Given the description of an element on the screen output the (x, y) to click on. 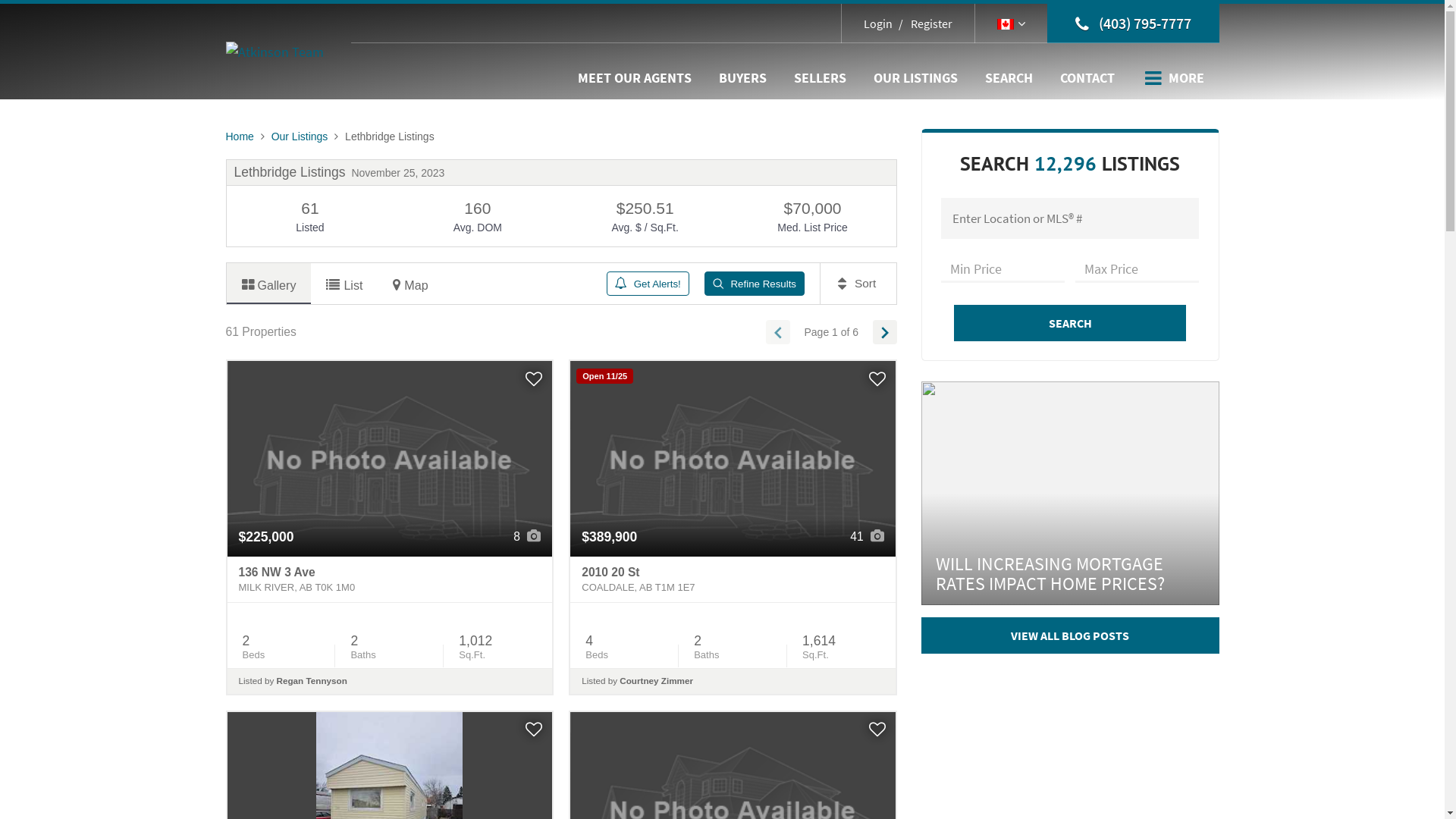
Login Element type: text (877, 23)
Home Page Element type: hover (274, 50)
VIEW ALL BLOG POSTS Element type: text (1069, 635)
(403) 795-7777 Element type: text (1132, 23)
$225,000
8 Element type: text (389, 457)
MEET OUR AGENTS Element type: text (634, 77)
Our Listings Element type: text (299, 136)
Home Element type: text (239, 136)
WILL INCREASING MORTGAGE RATES IMPACT HOME PRICES? Element type: text (1069, 493)
SEARCH Element type: text (1069, 322)
Get Alerts! Element type: text (647, 283)
Map Element type: text (409, 283)
SEARCH Element type: text (1008, 77)
List Element type: text (343, 283)
OUR LISTINGS Element type: text (915, 77)
Select Language Element type: hover (1011, 23)
SELLERS Element type: text (819, 77)
136 NW 3 Ave
MILK RIVER, AB T0K 1M0 Element type: text (389, 579)
$389,900
41 Element type: text (732, 457)
Register Element type: text (923, 23)
Days on Site (Newest) Element type: text (858, 270)
CONTACT Element type: text (1086, 77)
BUYERS Element type: text (742, 77)
2010 20 St
COALDALE, AB T1M 1E7 Element type: text (732, 579)
Gallery Element type: text (267, 283)
Refine Results Element type: text (754, 283)
MORE Element type: text (1174, 77)
